Given the description of an element on the screen output the (x, y) to click on. 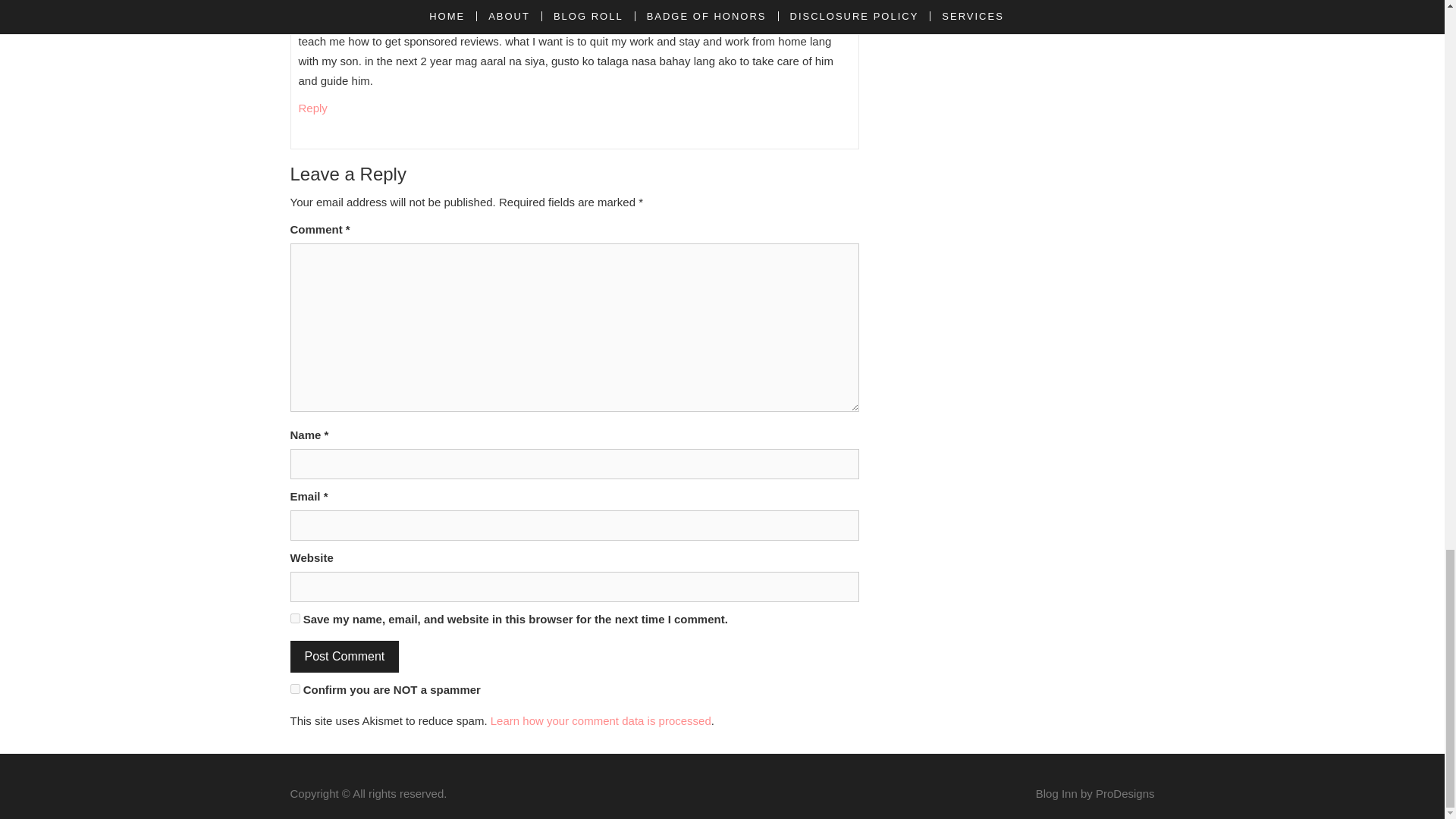
Reply (312, 107)
Post Comment (343, 656)
yes (294, 618)
on (294, 688)
